Given the description of an element on the screen output the (x, y) to click on. 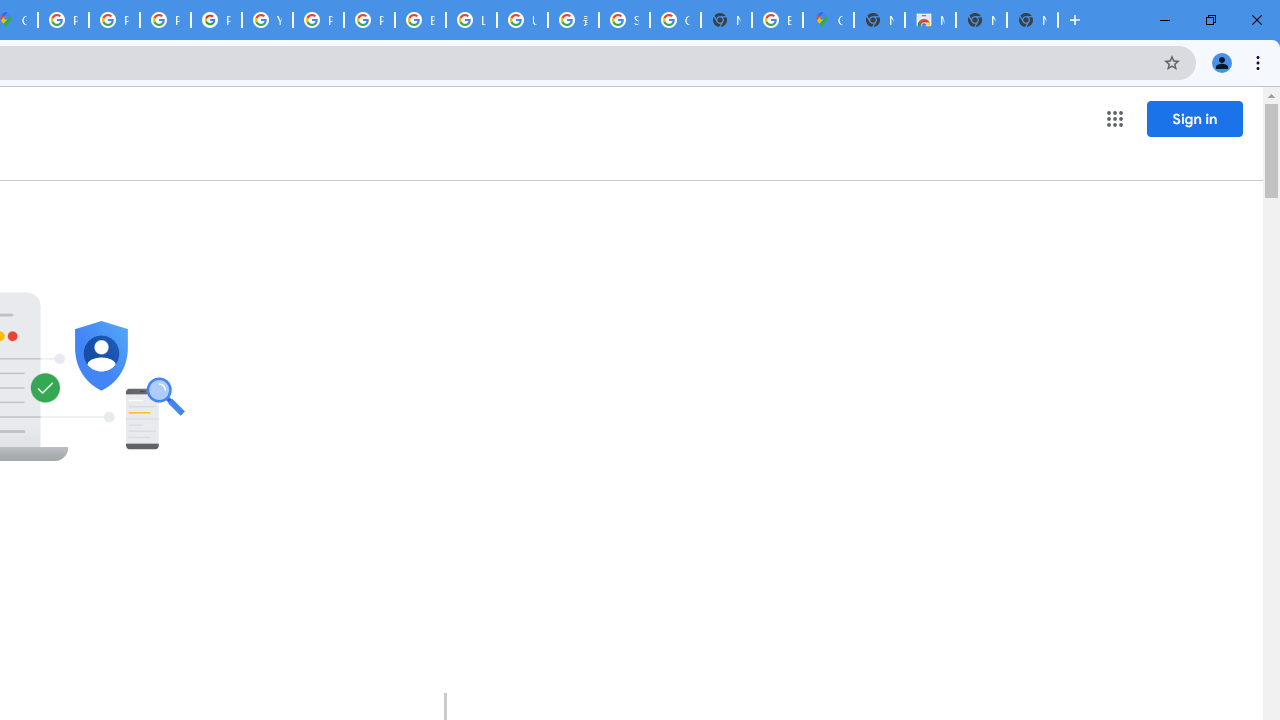
YouTube (267, 20)
Explore new street-level details - Google Maps Help (776, 20)
New Tab (878, 20)
Privacy Help Center - Policies Help (164, 20)
